Given the description of an element on the screen output the (x, y) to click on. 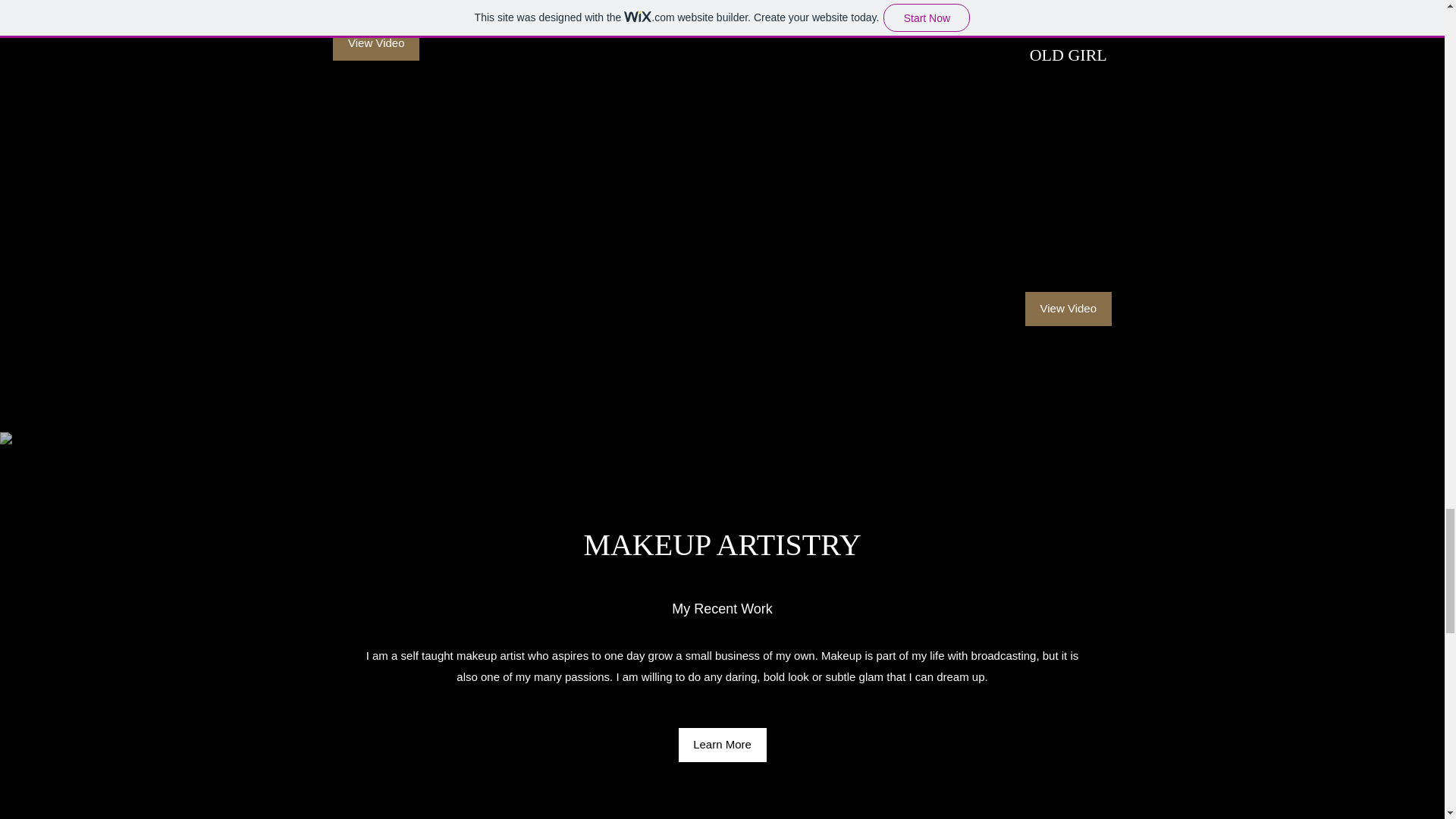
View Video (1068, 308)
View Video (376, 43)
Learn More (721, 745)
